Given the description of an element on the screen output the (x, y) to click on. 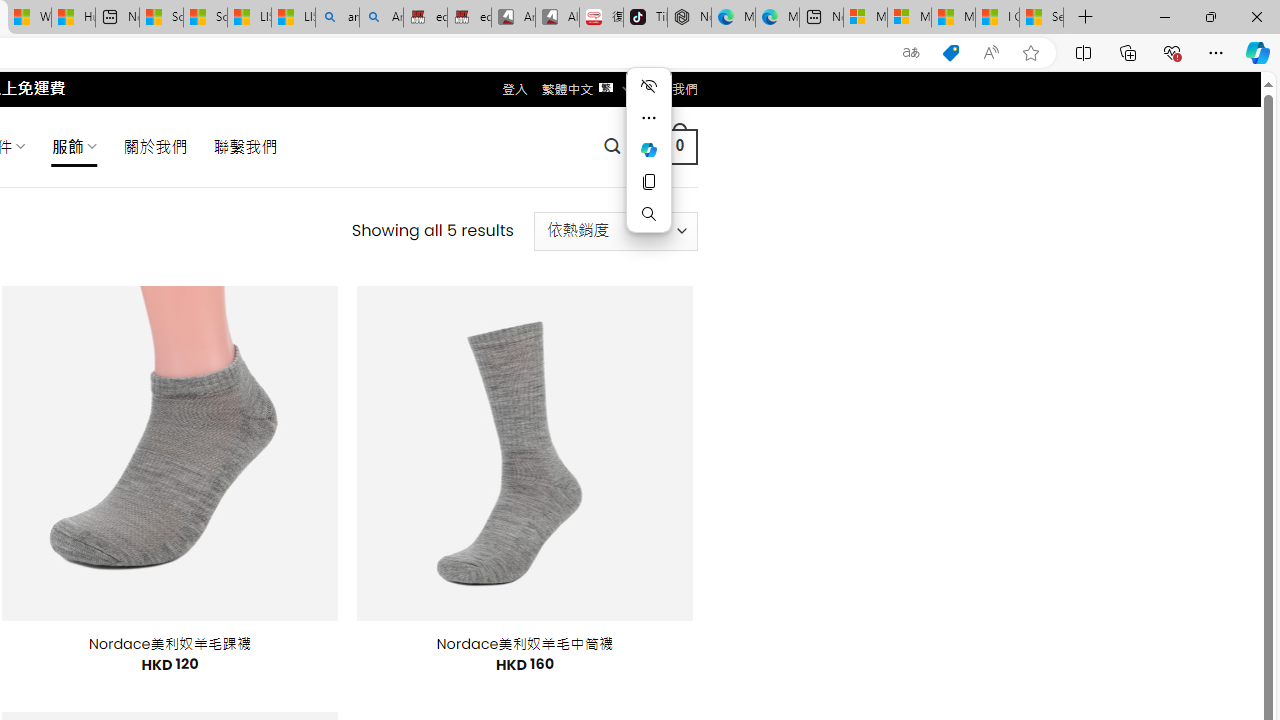
Collections (1128, 52)
New tab (821, 17)
Nordace - Best Sellers (689, 17)
Mini menu on text selection (648, 149)
Ask Copilot (648, 149)
Add this page to favorites (Ctrl+D) (1030, 53)
Browser essentials (1171, 52)
Minimize (1164, 16)
Search (648, 213)
